Given the description of an element on the screen output the (x, y) to click on. 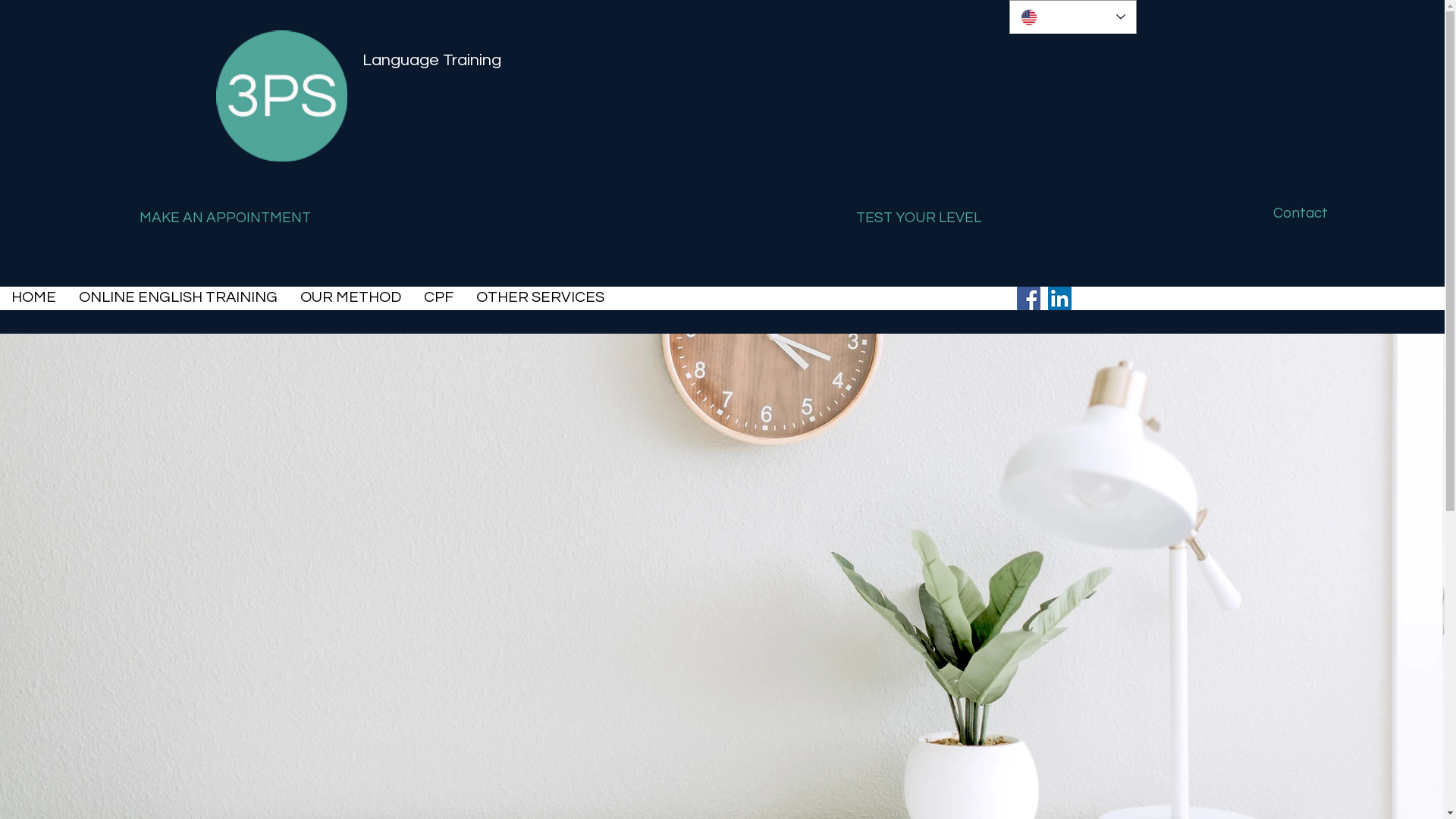
Language Training Element type: text (431, 60)
OUR METHOD Element type: text (350, 297)
Contact Element type: text (1300, 213)
CPF Element type: text (438, 297)
OTHER SERVICES Element type: text (539, 297)
TEST YOUR LEVEL Element type: text (918, 218)
HOME Element type: text (33, 297)
MAKE AN APPOINTMENT Element type: text (224, 218)
ONLINE ENGLISH TRAINING Element type: text (177, 297)
